Given the description of an element on the screen output the (x, y) to click on. 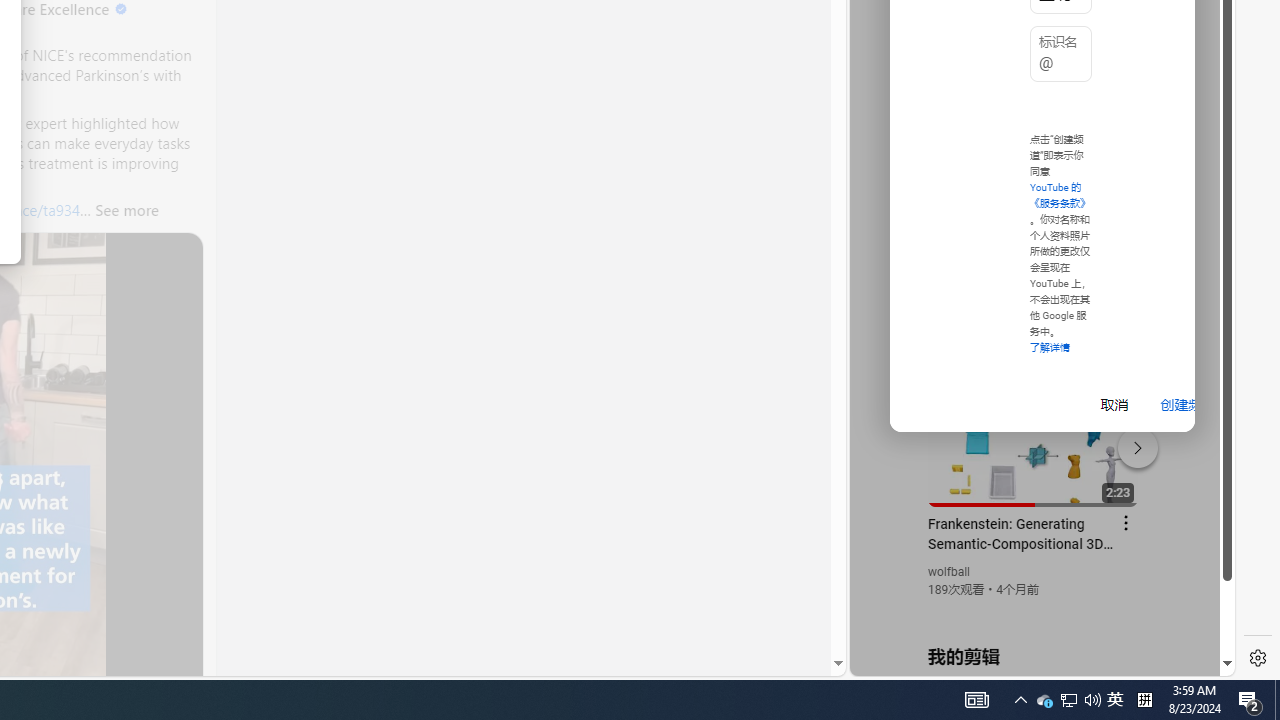
wolfball (949, 572)
Actions for this site (1131, 443)
you (1034, 609)
YouTube (1034, 432)
